Given the description of an element on the screen output the (x, y) to click on. 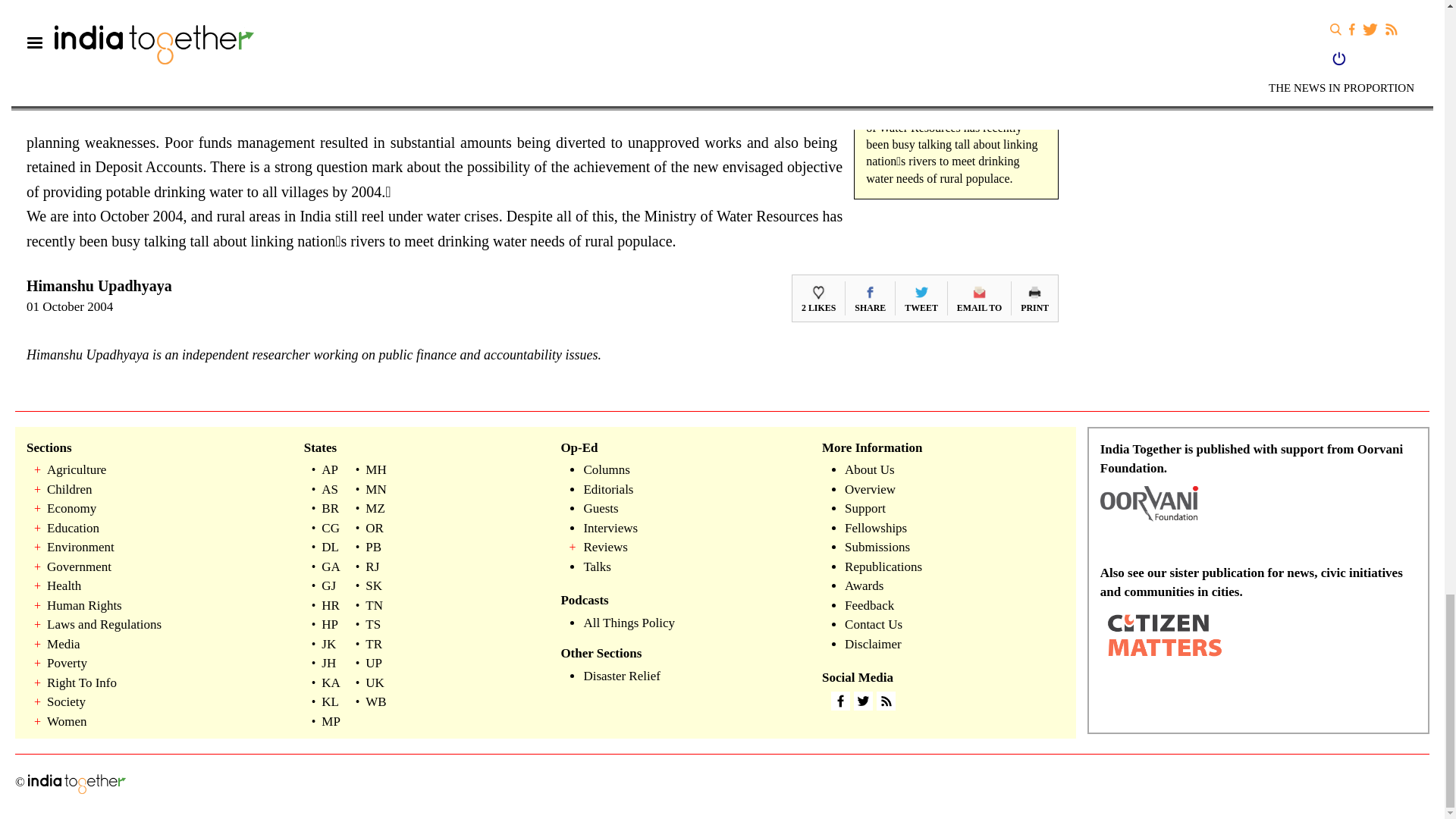
PRINT (1034, 297)
Printer friendly page (1034, 297)
TWEET (920, 297)
EMAIL TO (978, 297)
SHARE (869, 297)
